Given the description of an element on the screen output the (x, y) to click on. 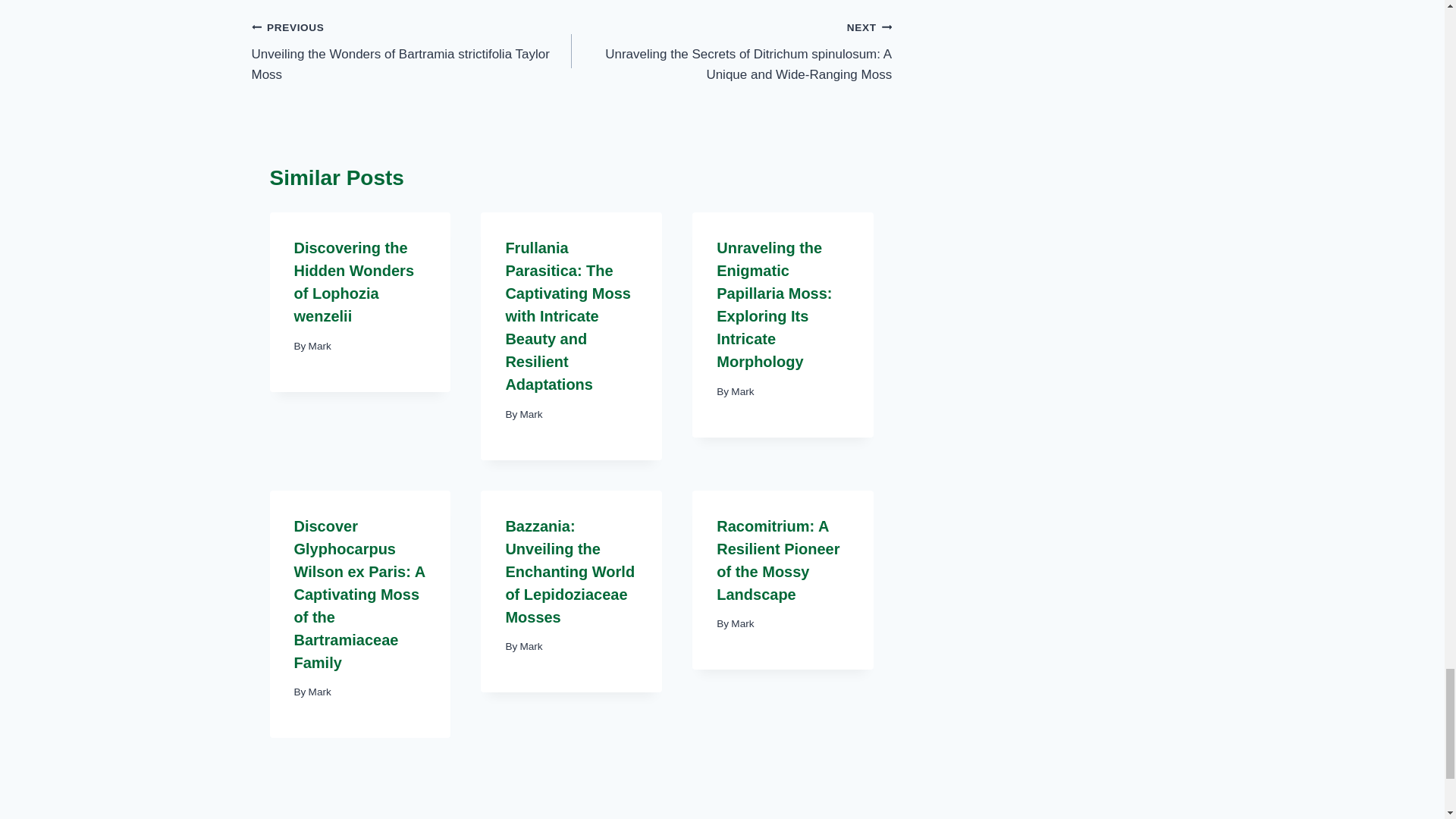
Discovering the Hidden Wonders of Lophozia wenzelii (354, 281)
Mark (319, 346)
